Given the description of an element on the screen output the (x, y) to click on. 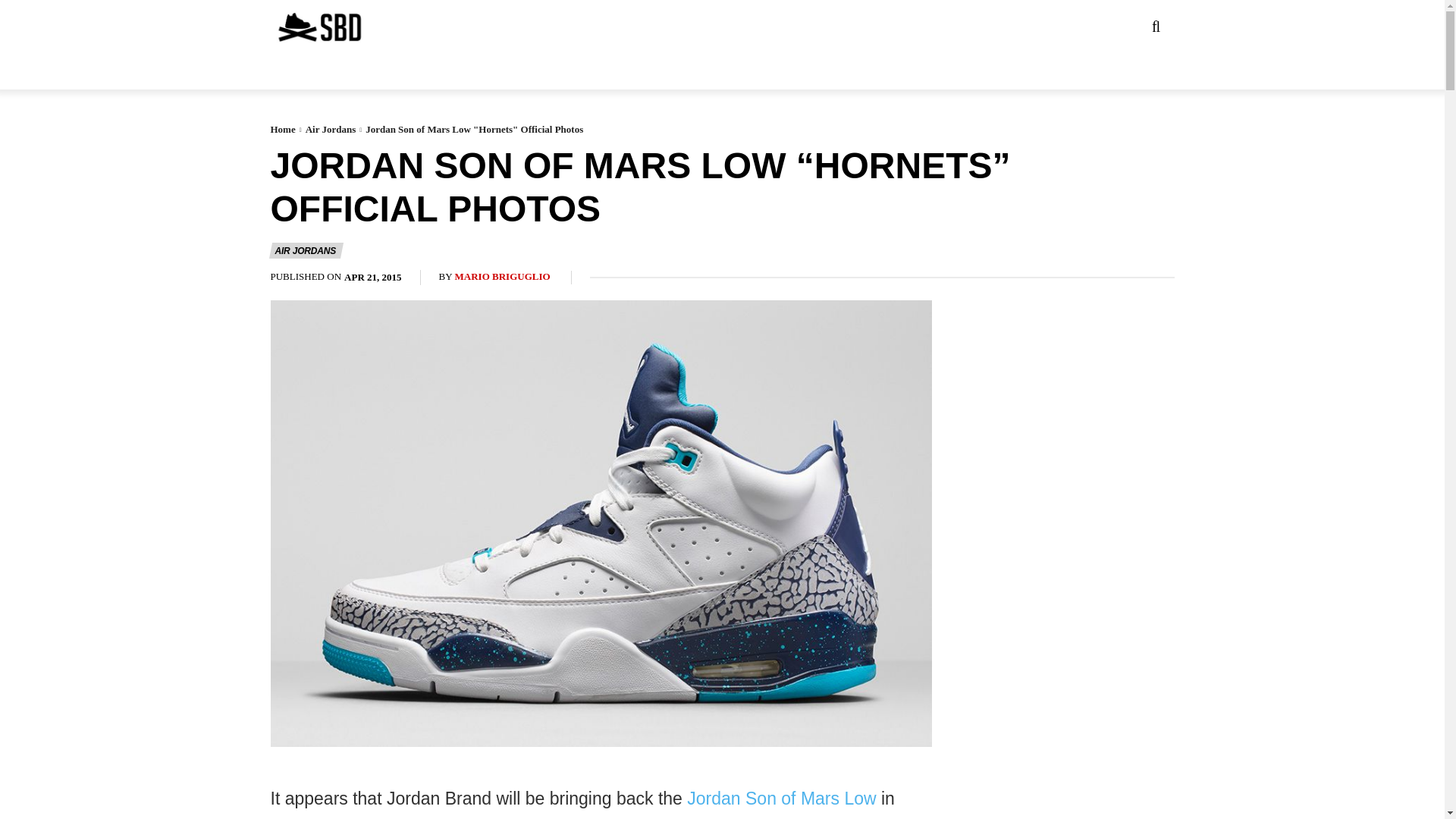
Sneaker News and Release Dates (288, 26)
View all posts in Air Jordans (330, 129)
Sneaker News and Release Dates (318, 26)
